Given the description of an element on the screen output the (x, y) to click on. 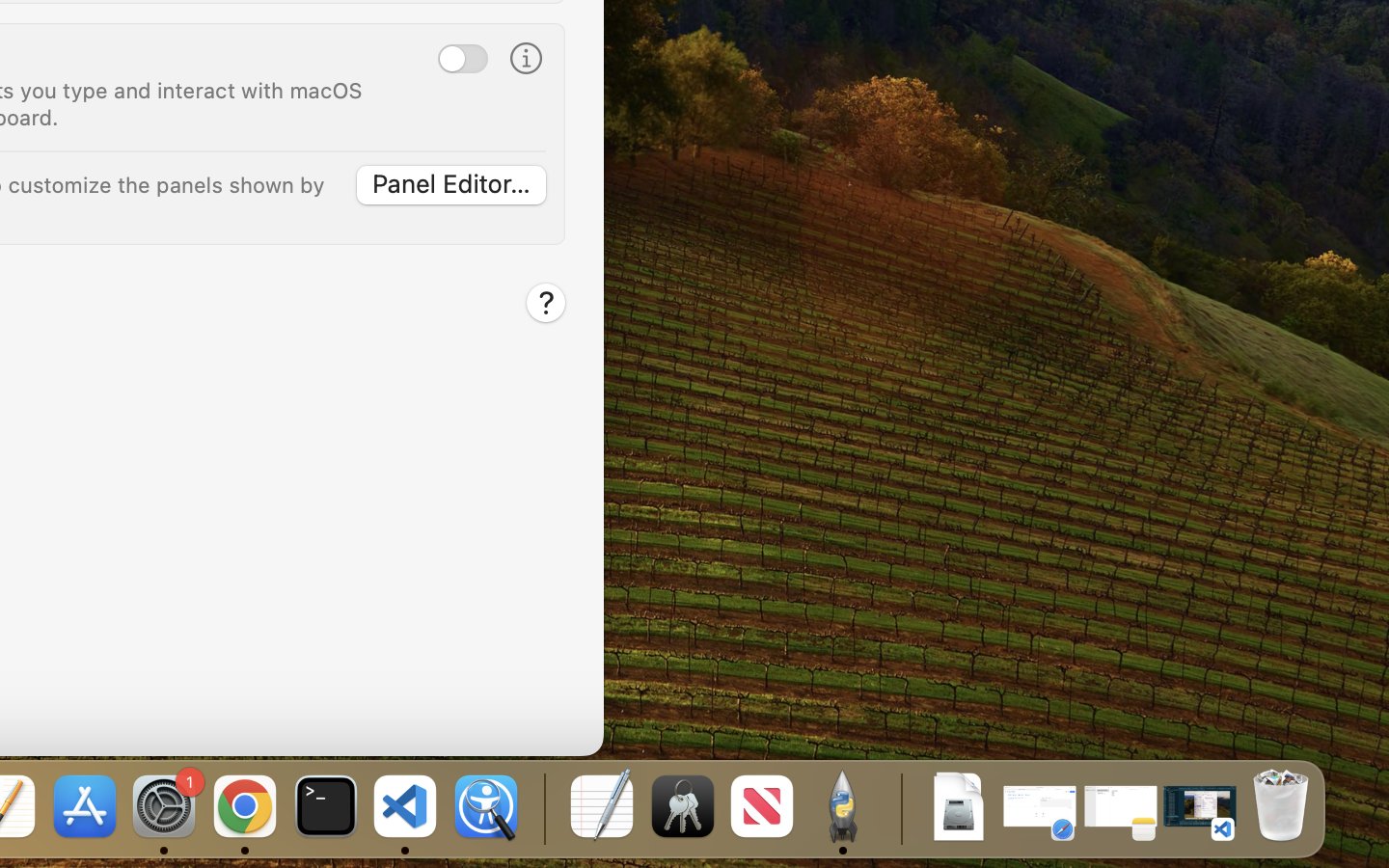
0.4285714328289032 Element type: AXDockItem (541, 807)
